Given the description of an element on the screen output the (x, y) to click on. 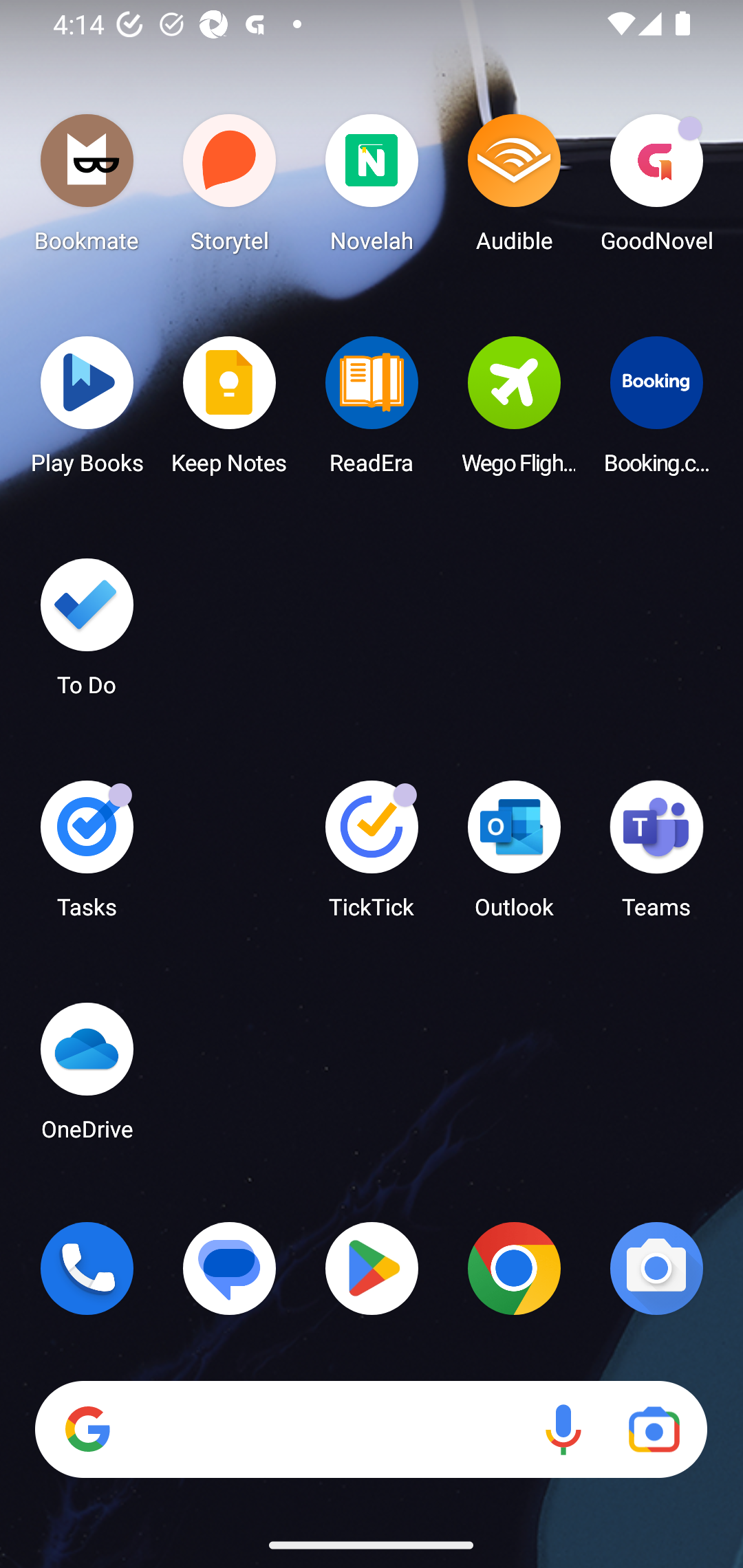
Bookmate (86, 188)
Storytel (229, 188)
Novelah (371, 188)
Audible (513, 188)
GoodNovel GoodNovel has 1 notification (656, 188)
Play Books (86, 410)
Keep Notes (229, 410)
ReadEra (371, 410)
Wego Flights & Hotels (513, 410)
Booking.com (656, 410)
To Do (86, 633)
Tasks Tasks has 1 notification (86, 854)
TickTick TickTick has 3 notifications (371, 854)
Outlook (513, 854)
Teams (656, 854)
OneDrive (86, 1076)
Phone (86, 1268)
Messages (229, 1268)
Play Store (371, 1268)
Chrome (513, 1268)
Camera (656, 1268)
Search Voice search Google Lens (370, 1429)
Voice search (562, 1429)
Google Lens (653, 1429)
